Given the description of an element on the screen output the (x, y) to click on. 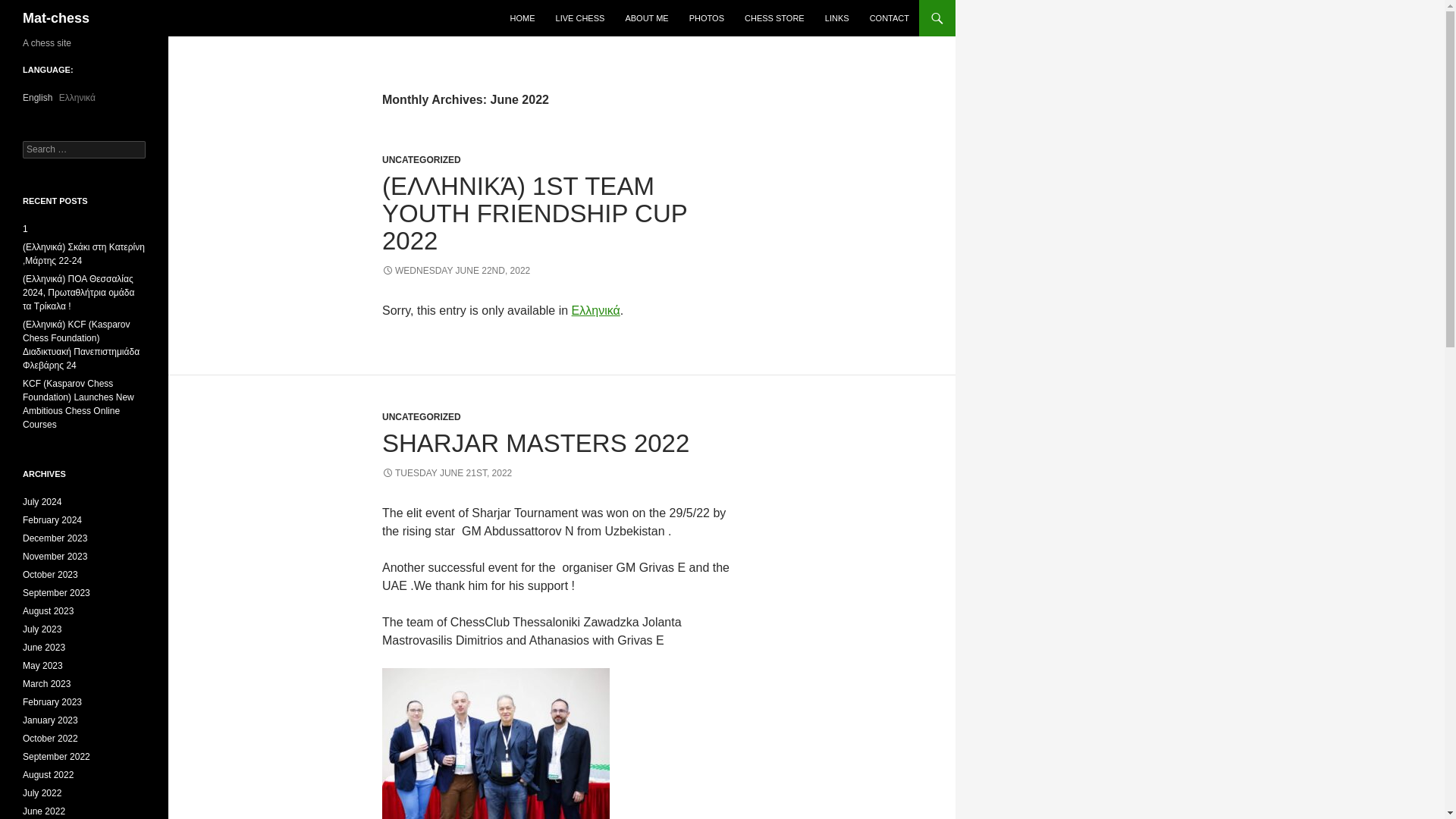
Search (30, 8)
TUESDAY JUNE 21ST, 2022 (446, 472)
CHESS STORE (774, 18)
SHARJAR MASTERS 2022 (534, 443)
ABOUT ME (646, 18)
Mat-chess (55, 18)
English (37, 97)
LINKS (837, 18)
WEDNESDAY JUNE 22ND, 2022 (455, 270)
CONTACT (889, 18)
LIVE CHESS (580, 18)
HOME (521, 18)
UNCATEGORIZED (421, 416)
PHOTOS (706, 18)
UNCATEGORIZED (421, 159)
